Given the description of an element on the screen output the (x, y) to click on. 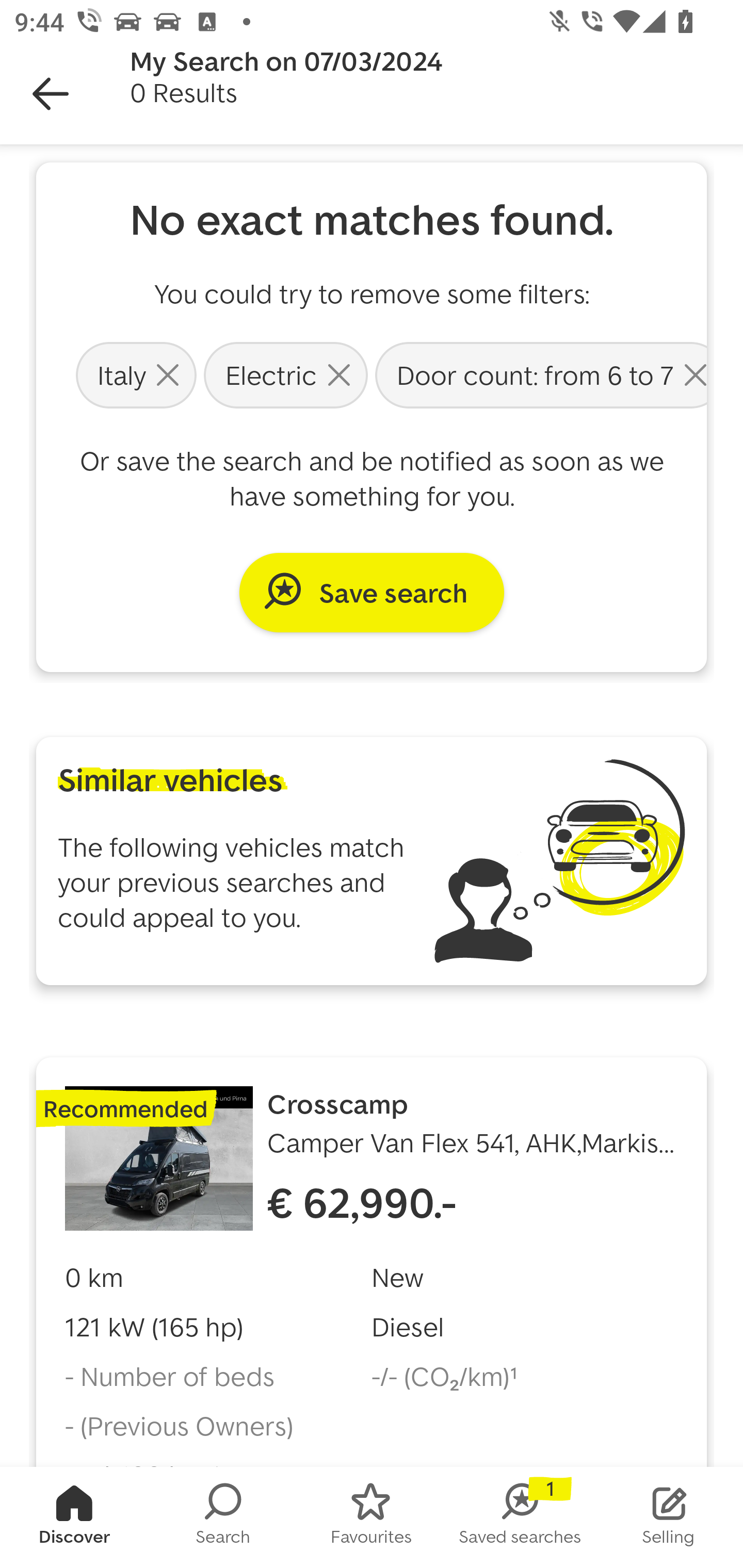
Navigate up (50, 93)
Italy (135, 374)
Electric (285, 374)
Door count: from 6 to 7 (538, 374)
Save search (371, 592)
HOMESCREEN Discover (74, 1517)
SEARCH Search (222, 1517)
FAVORITES Favourites (371, 1517)
SAVED_SEARCHES Saved searches 1 (519, 1517)
STOCK_LIST Selling (668, 1517)
